Given the description of an element on the screen output the (x, y) to click on. 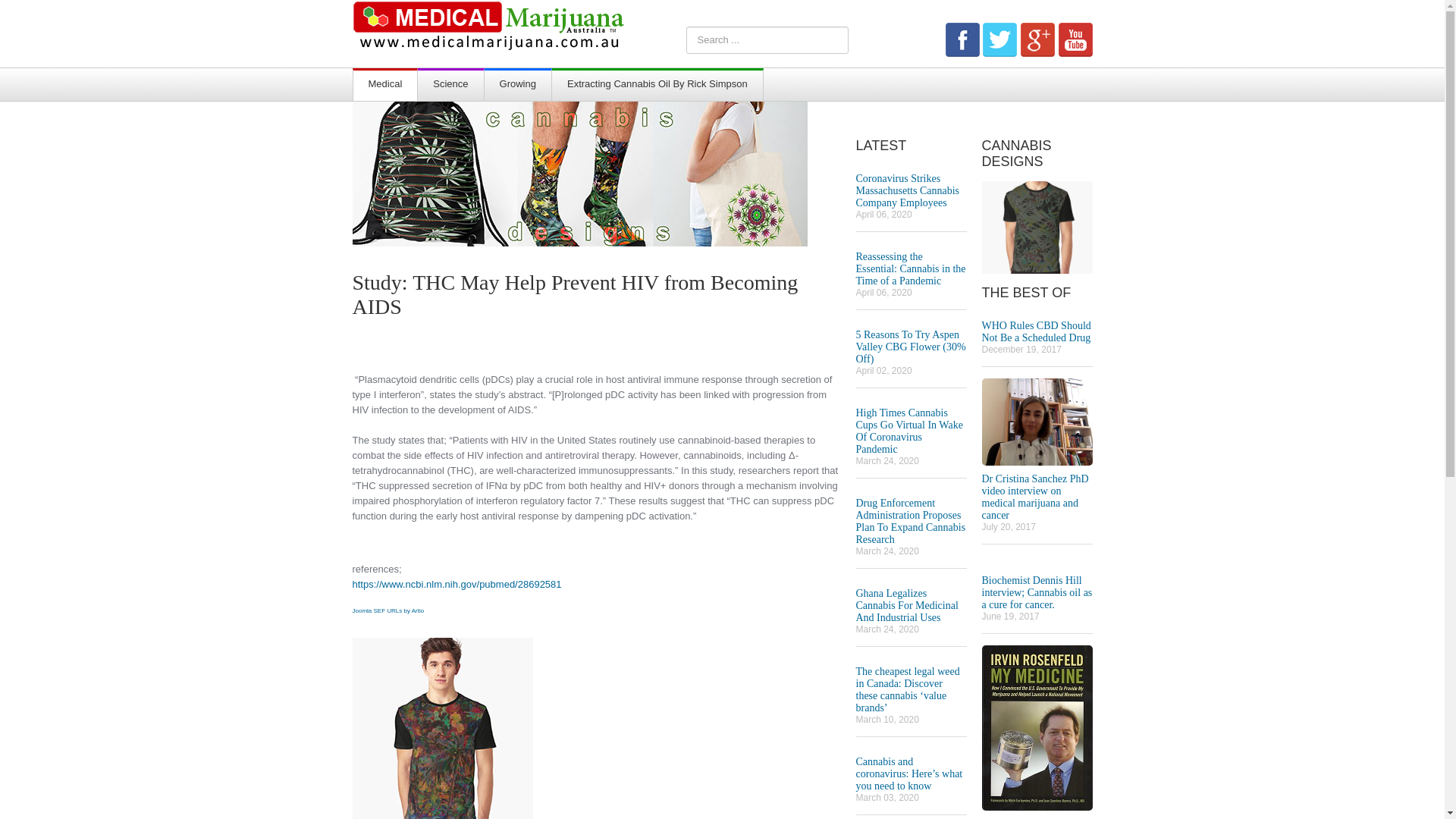
cannabis banner 3 Element type: hover (578, 172)
Medical Element type: text (385, 85)
Growing Element type: text (517, 85)
Coronavirus Strikes Massachusetts Cannabis Company Employees Element type: text (906, 190)
https://www.ncbi.nlm.nih.gov/pubmed/28692581 Element type: text (456, 583)
Joomla SEF URLs by Artio Element type: text (387, 610)
Study: THC May Help Prevent HIV from Becoming AIDS Element type: text (574, 299)
Ghana Legalizes Cannabis For Medicinal And Industrial Uses Element type: text (906, 605)
WHO Rules CBD Should Not Be a Scheduled Drug Element type: text (1035, 331)
Namaste Vapes Element type: hover (441, 731)
Science Element type: text (450, 85)
red bubble cannabis t-shirt Element type: hover (1036, 226)
5 Reasons To Try Aspen Valley CBG Flower (30% Off) Element type: text (910, 346)
Extracting Cannabis Oil By Rick Simpson Element type: text (657, 85)
